Given the description of an element on the screen output the (x, y) to click on. 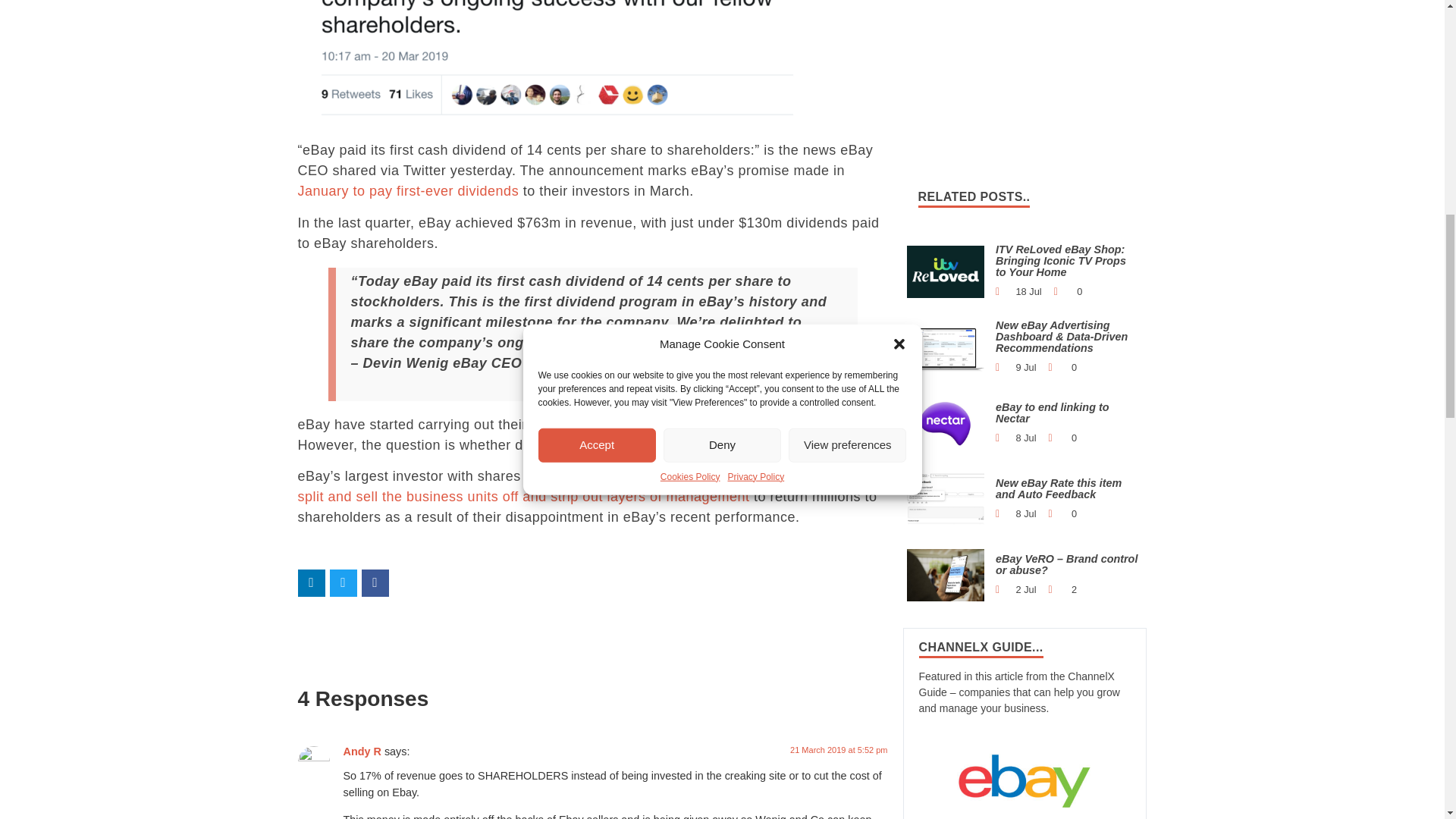
New eBay Rate this item and Auto Feedback (946, 498)
ITV ReLoved eBay Shop: Bringing Iconic TV Props to Your Home (946, 271)
eBay to end linking to Nectar (946, 422)
